Given the description of an element on the screen output the (x, y) to click on. 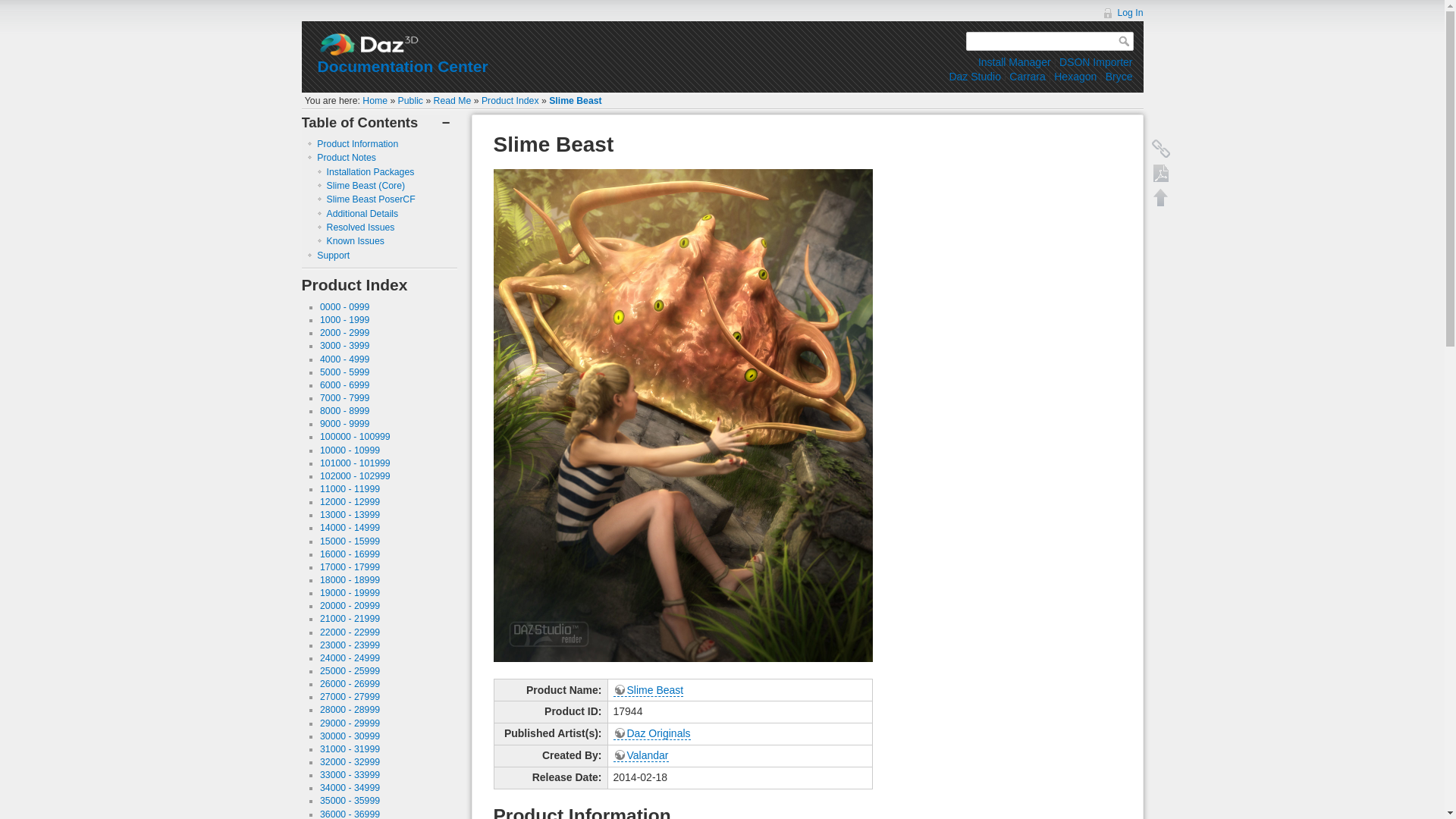
Slime Beast (574, 100)
Read Me (452, 100)
Carrara (1027, 76)
public:software:dazstudio:start (974, 76)
Install Manager (1014, 61)
Log In (1122, 12)
Public (410, 100)
8000 - 8999 (344, 410)
101000 - 101999 (355, 462)
6000 - 6999 (344, 385)
